Given the description of an element on the screen output the (x, y) to click on. 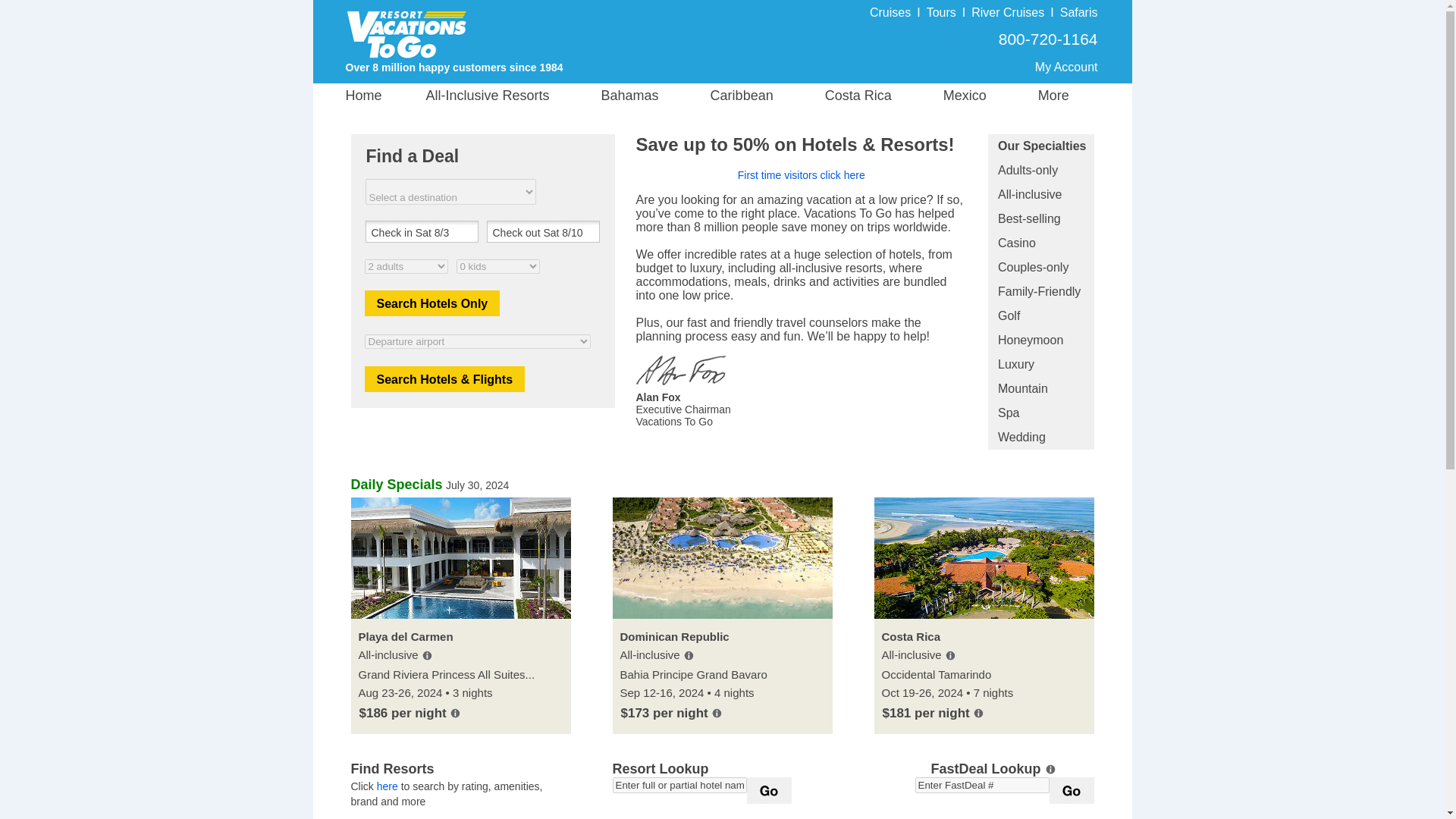
  Bahamas (645, 95)
Home (382, 95)
River Cruises (1007, 11)
  Costa Rica (874, 95)
Cruises (890, 11)
Safaris (1078, 11)
Enter full or partial hotel name (679, 785)
All-Inclusive Resorts (507, 95)
Tours (941, 11)
My Account (1066, 66)
  Mexico (980, 95)
  Caribbean (757, 95)
